Given the description of an element on the screen output the (x, y) to click on. 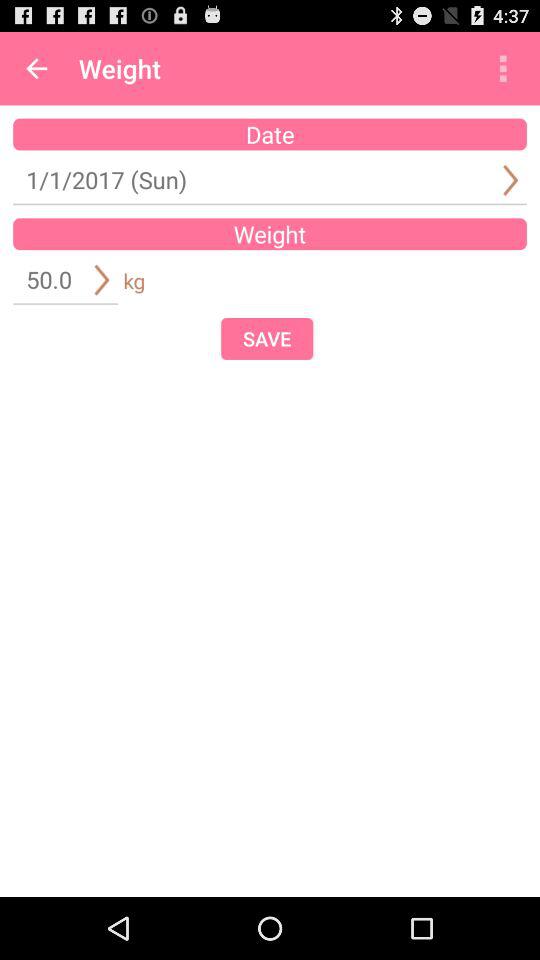
tap icon above date item (36, 68)
